Given the description of an element on the screen output the (x, y) to click on. 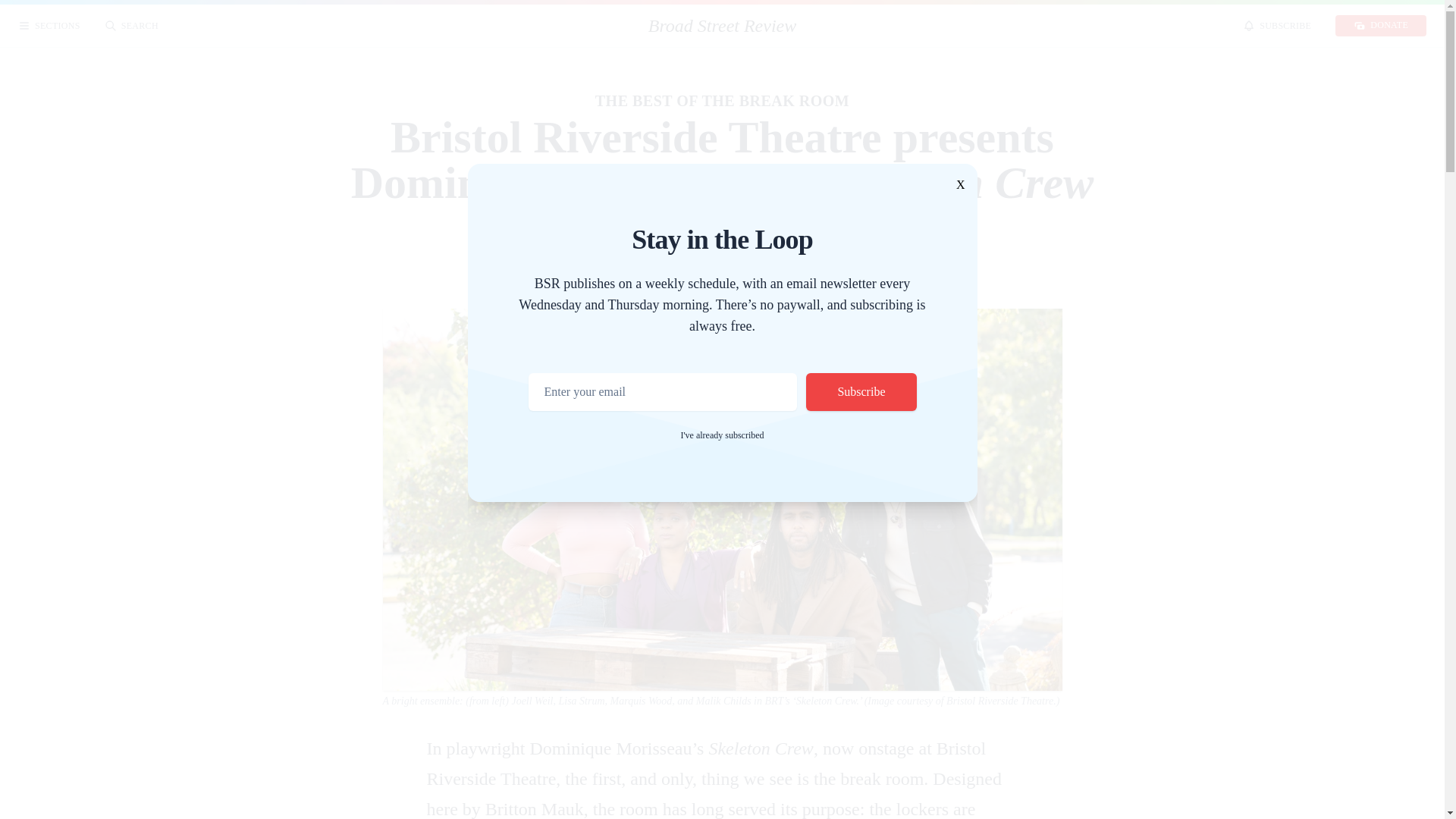
DONATE (1380, 25)
SUBSCRIBE (1277, 25)
SEARCH (131, 25)
SECTIONS (48, 25)
I've already subscribed (720, 435)
Broad Street Review (721, 25)
Subscribe (860, 392)
REVIEWS (501, 25)
Theater (793, 245)
Subscribe (860, 392)
X (959, 184)
SHARE (937, 25)
